Given the description of an element on the screen output the (x, y) to click on. 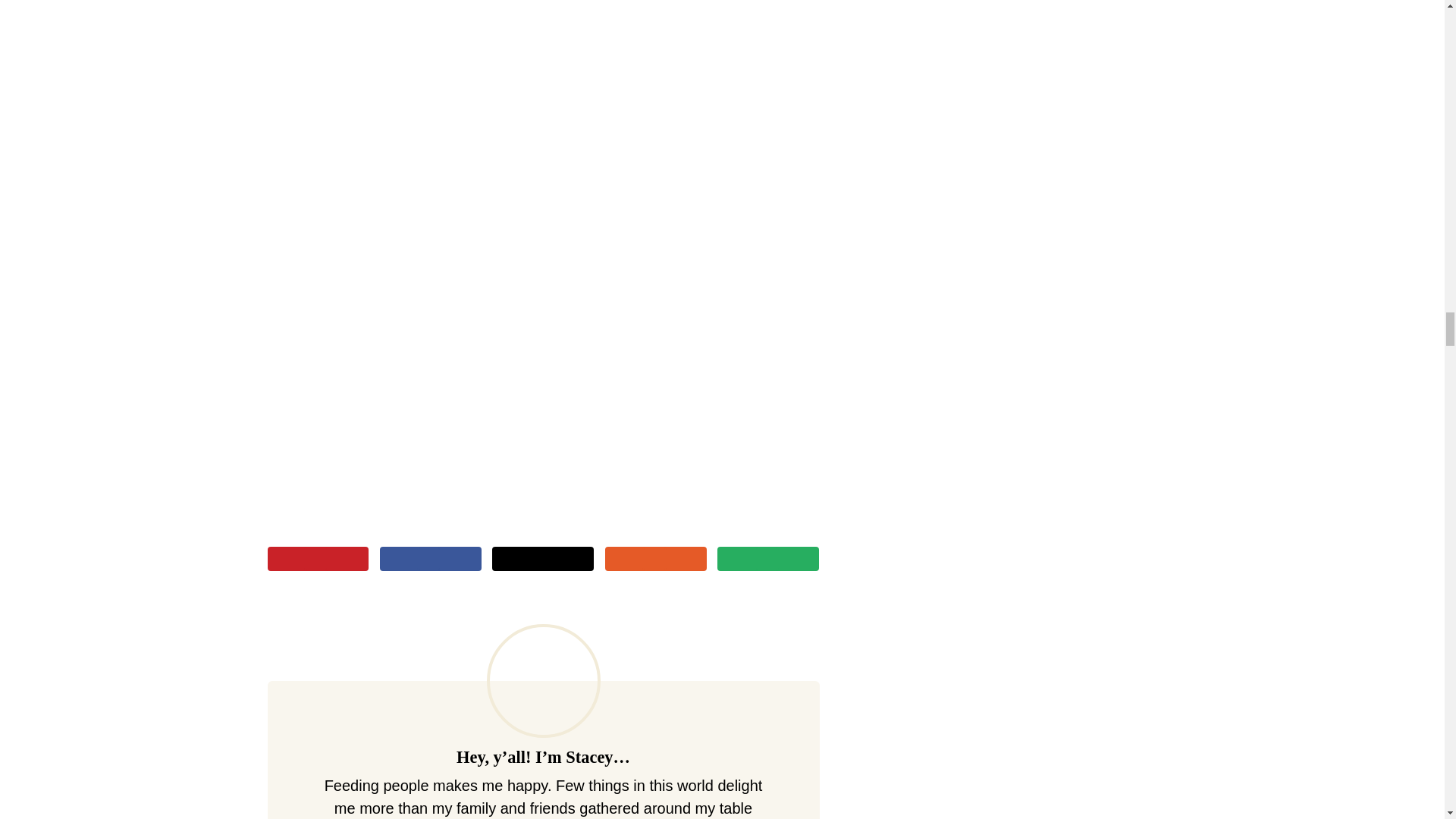
Share on Facebook (430, 558)
Send over email (767, 558)
Save to Pinterest (317, 558)
Share on X (543, 558)
Share on Yummly (655, 558)
